Given the description of an element on the screen output the (x, y) to click on. 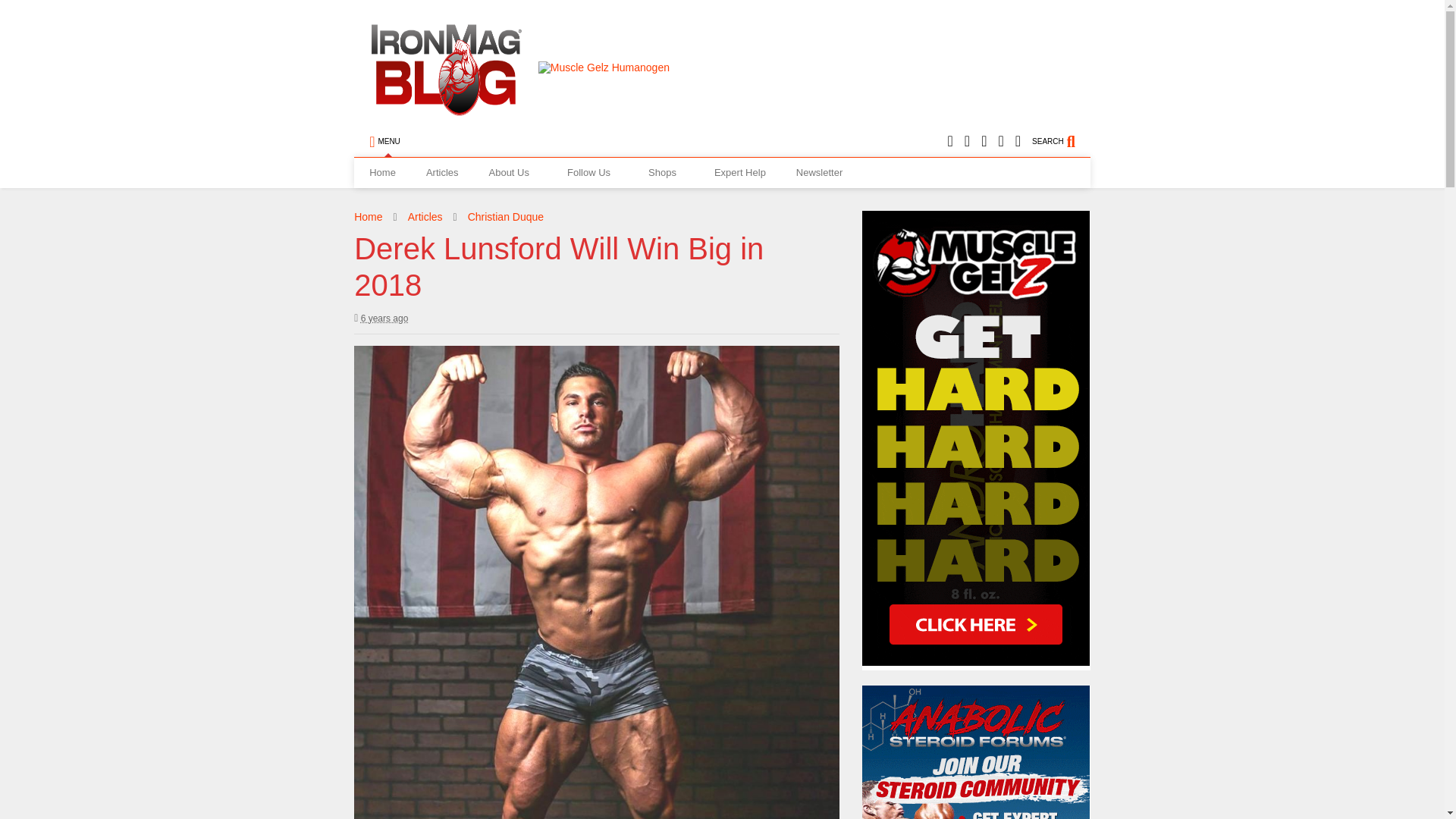
Online Shops (665, 173)
Muscle Gelz Humanogen (603, 66)
Newsletter (818, 173)
Shops (665, 173)
Expert Help (739, 173)
All Articles (442, 173)
MENU (383, 141)
Articles (442, 173)
6 years ago (380, 318)
Follow Us (592, 173)
